Given the description of an element on the screen output the (x, y) to click on. 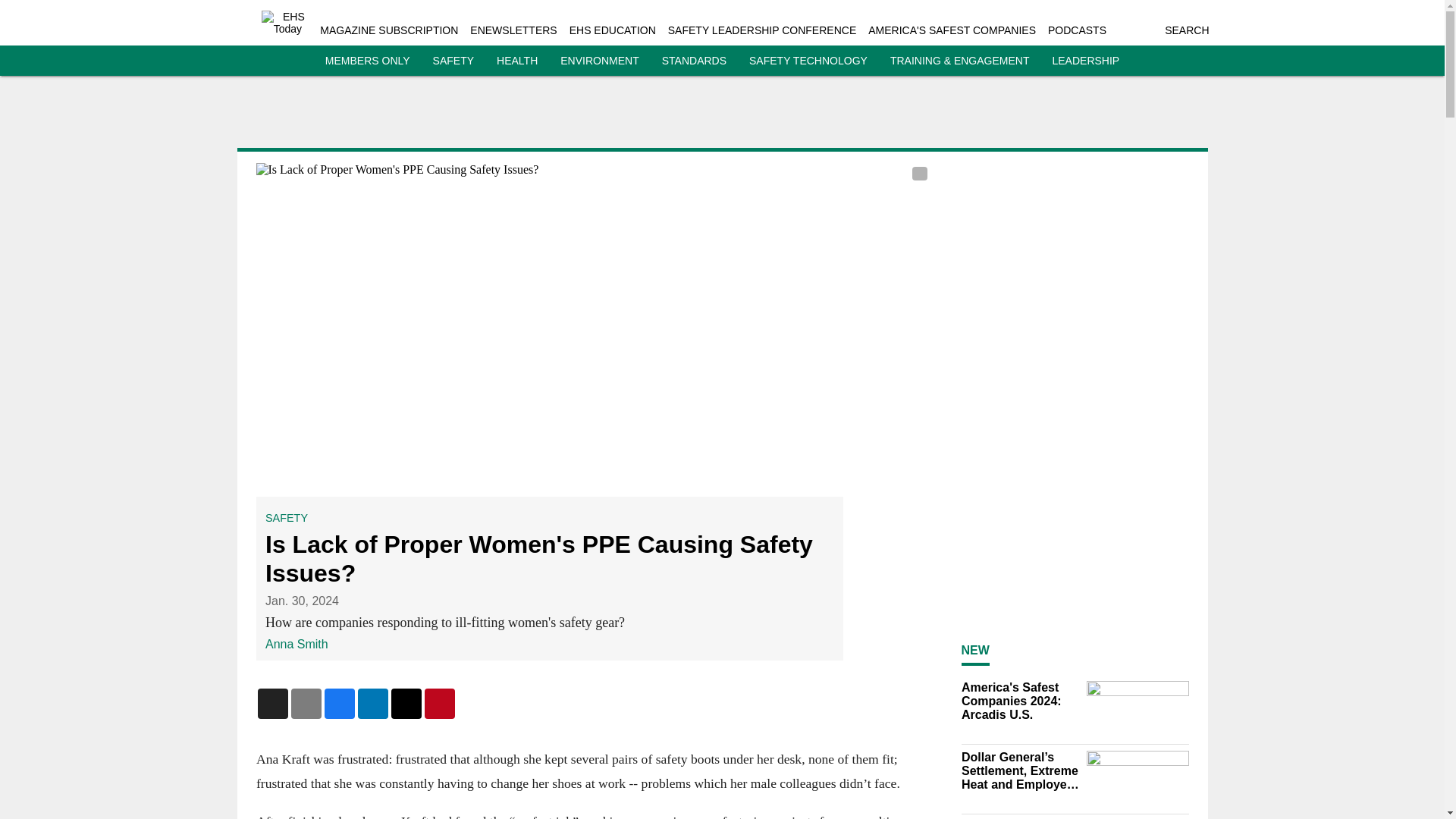
SAFETY LEADERSHIP CONFERENCE (762, 30)
HEALTH (516, 60)
STANDARDS (694, 60)
SAFETY (453, 60)
ENVIRONMENT (599, 60)
ENEWSLETTERS (513, 30)
EHS EDUCATION (612, 30)
SAFETY (285, 517)
MAGAZINE SUBSCRIPTION (389, 30)
SAFETY TECHNOLOGY (808, 60)
Anna Smith (296, 644)
AMERICA'S SAFEST COMPANIES (951, 30)
PODCASTS (1077, 30)
MEMBERS ONLY (367, 60)
